Given the description of an element on the screen output the (x, y) to click on. 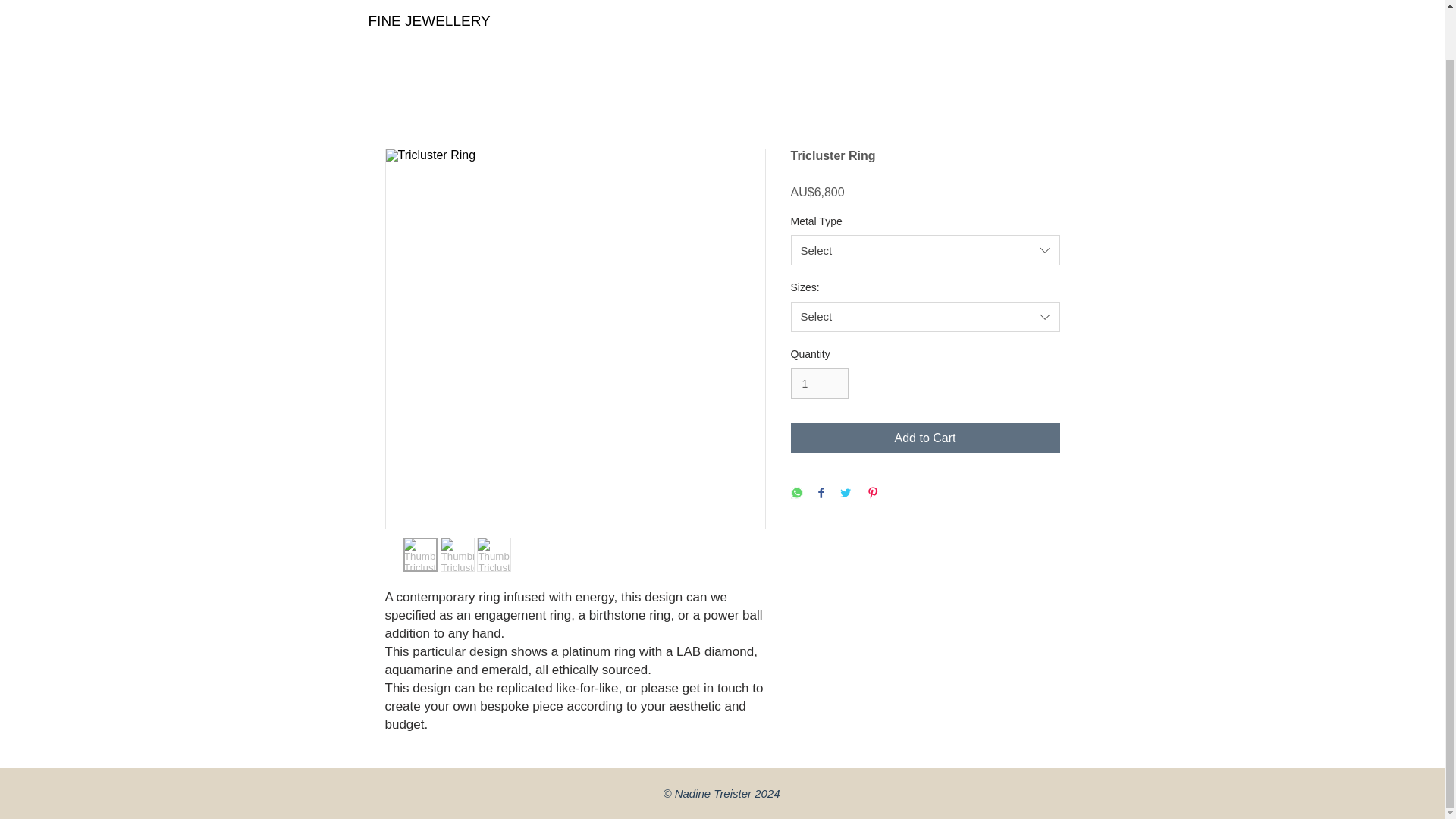
Nadine Treister (713, 793)
1 (818, 382)
Add to Cart (924, 438)
Select (924, 317)
Select (924, 250)
